Given the description of an element on the screen output the (x, y) to click on. 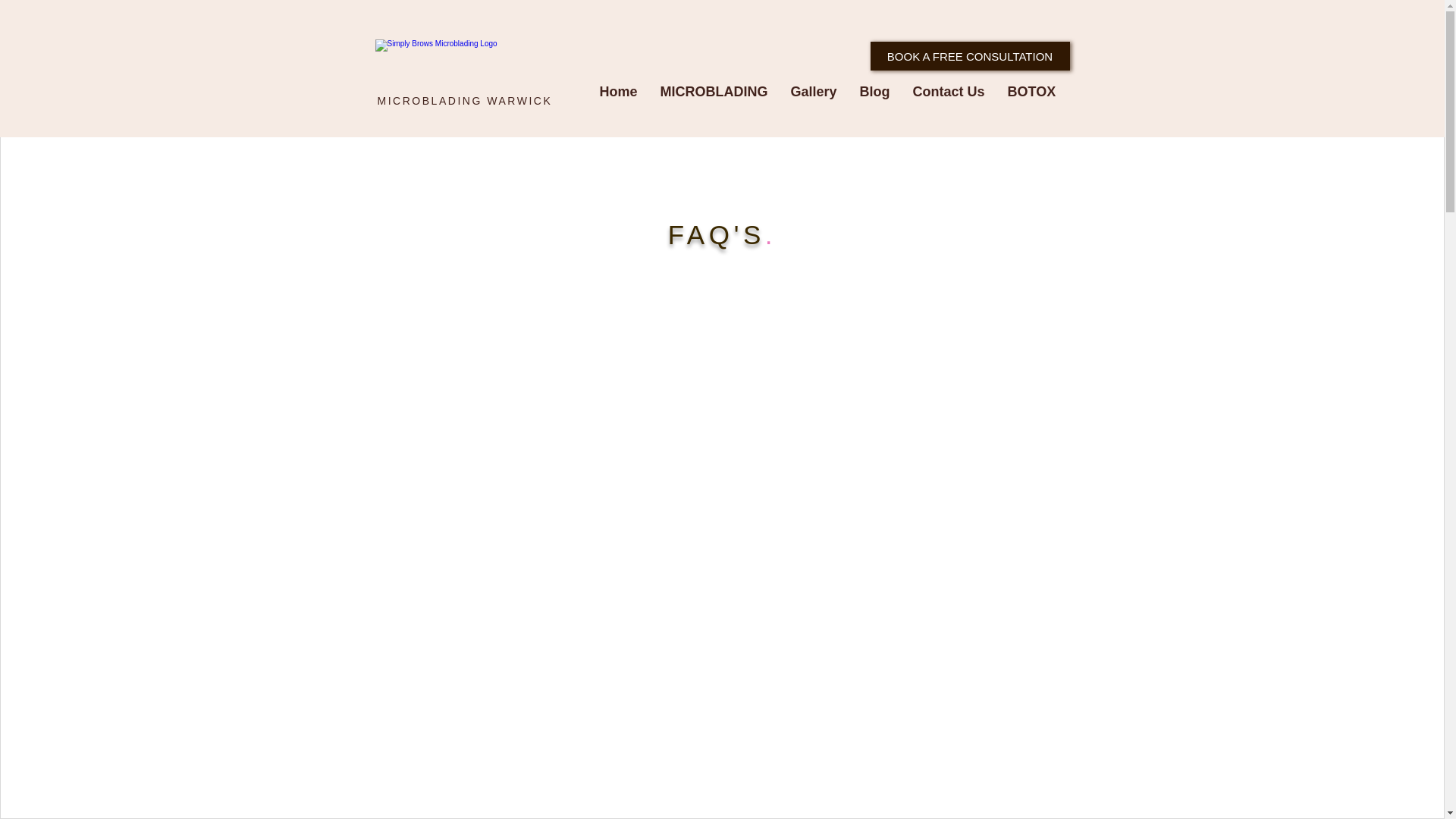
Contact Us (948, 101)
Home (618, 101)
BOOK A FREE CONSULTATION (970, 55)
DERMAL FILLERS (1137, 101)
Blog (874, 101)
